Given the description of an element on the screen output the (x, y) to click on. 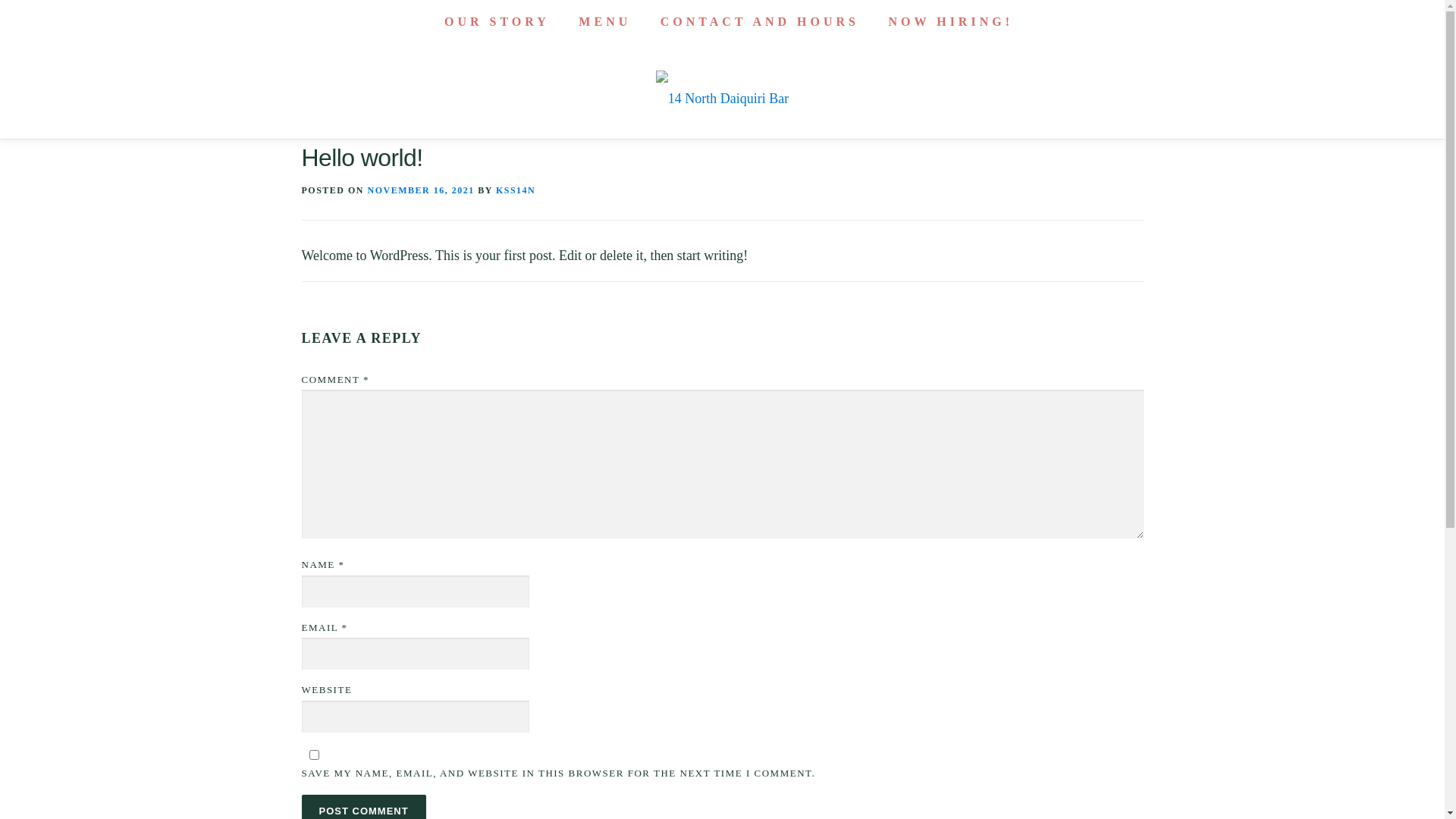
NOW HIRING! Element type: text (944, 21)
KSS14N Element type: text (515, 190)
CONTACT AND HOURS Element type: text (759, 21)
OUR STORY Element type: text (496, 21)
MENU Element type: text (604, 21)
NOVEMBER 16, 2021 Element type: text (420, 190)
